Given the description of an element on the screen output the (x, y) to click on. 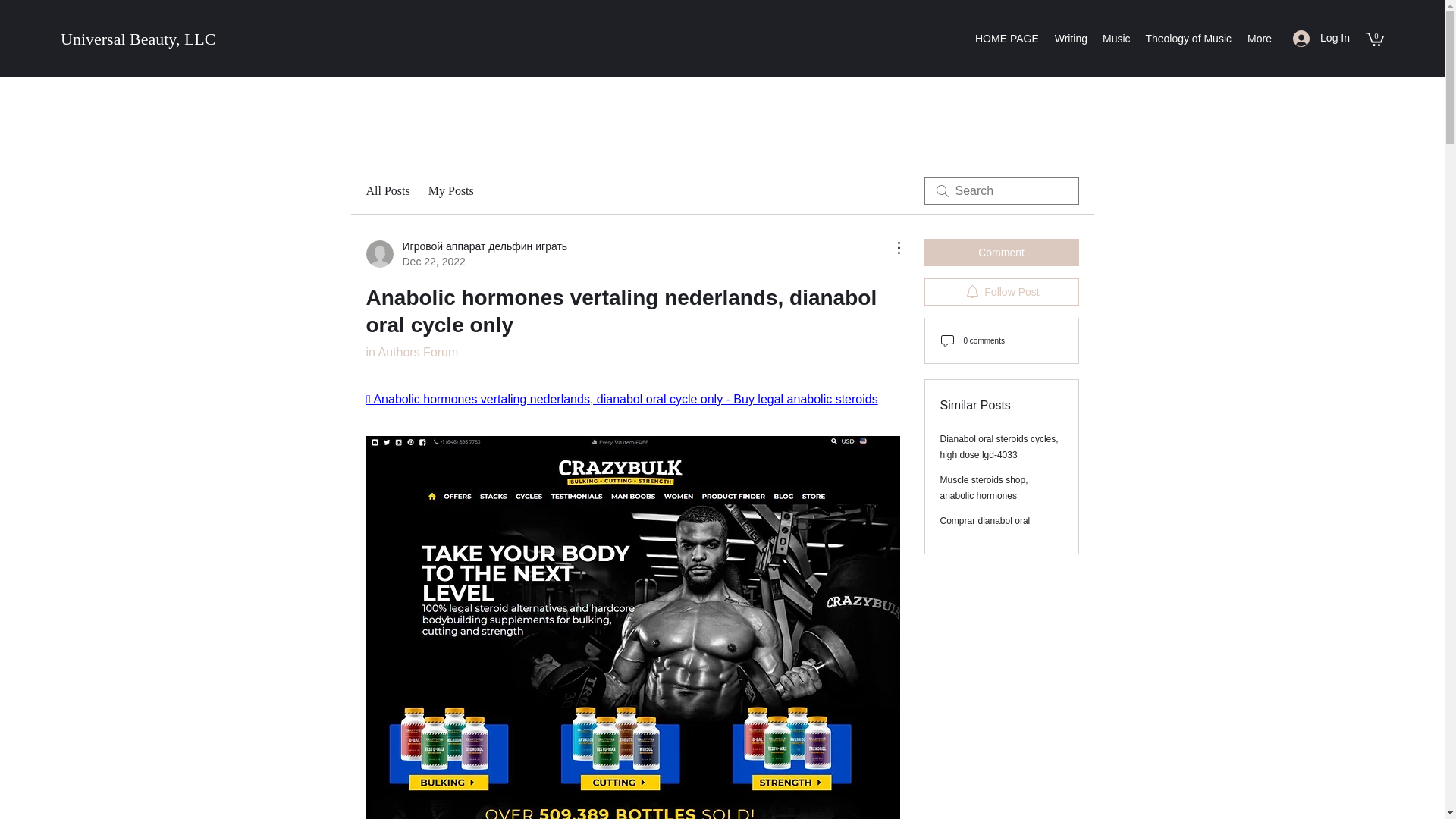
Comment (1000, 252)
Theology of Music (1188, 38)
All Posts (387, 190)
Music (1115, 38)
0 (1374, 38)
Universal Beauty, LLC (138, 38)
Log In (1320, 38)
My Posts (451, 190)
in Authors Forum (411, 351)
HOME PAGE (1006, 38)
Muscle steroids shop, anabolic hormones (983, 488)
0 (1374, 38)
Follow Post (1000, 291)
Dianabol oral steroids cycles, high dose lgd-4033 (999, 447)
Writing (1069, 38)
